Given the description of an element on the screen output the (x, y) to click on. 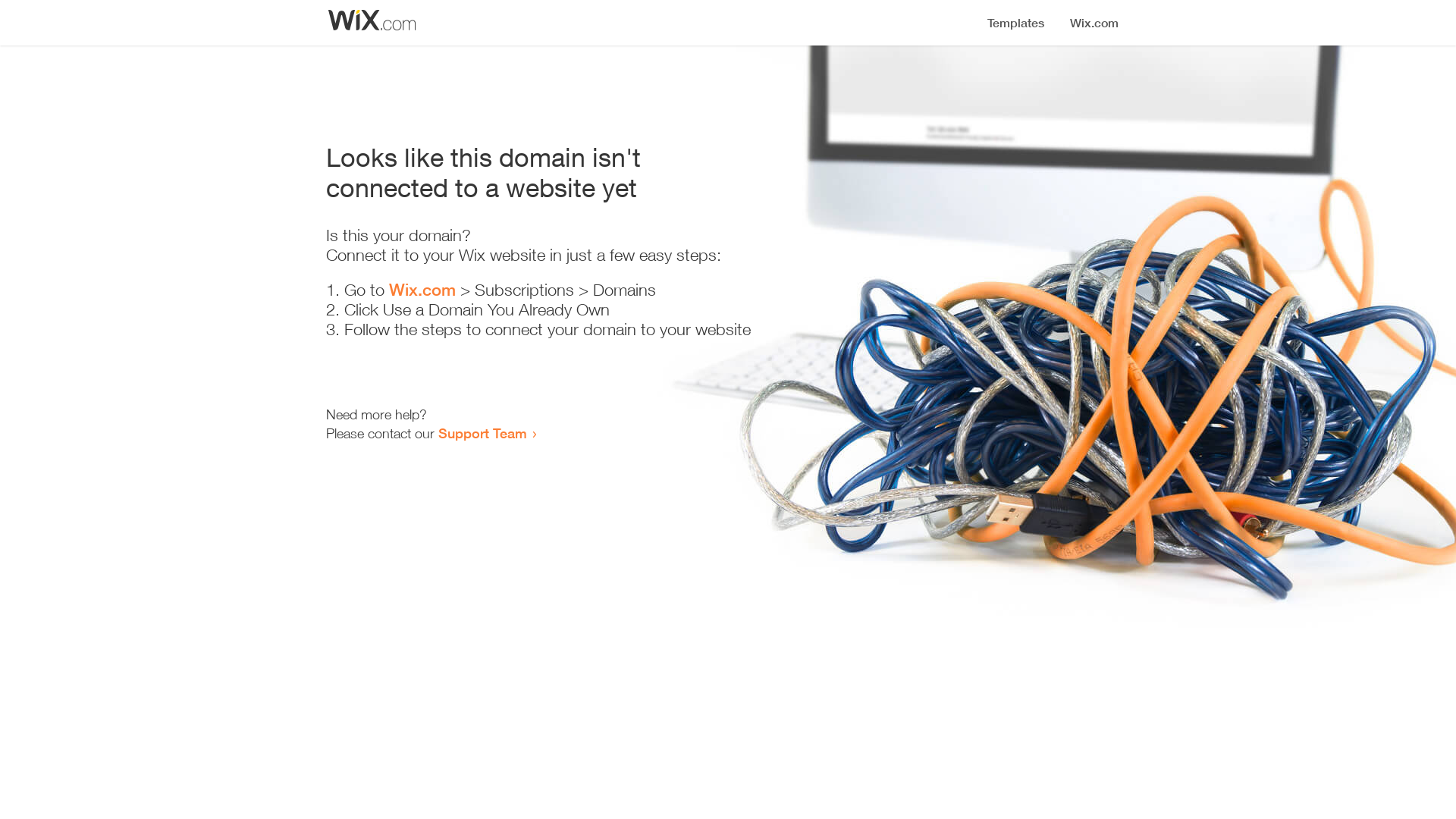
Support Team Element type: text (482, 432)
Wix.com Element type: text (422, 289)
